Given the description of an element on the screen output the (x, y) to click on. 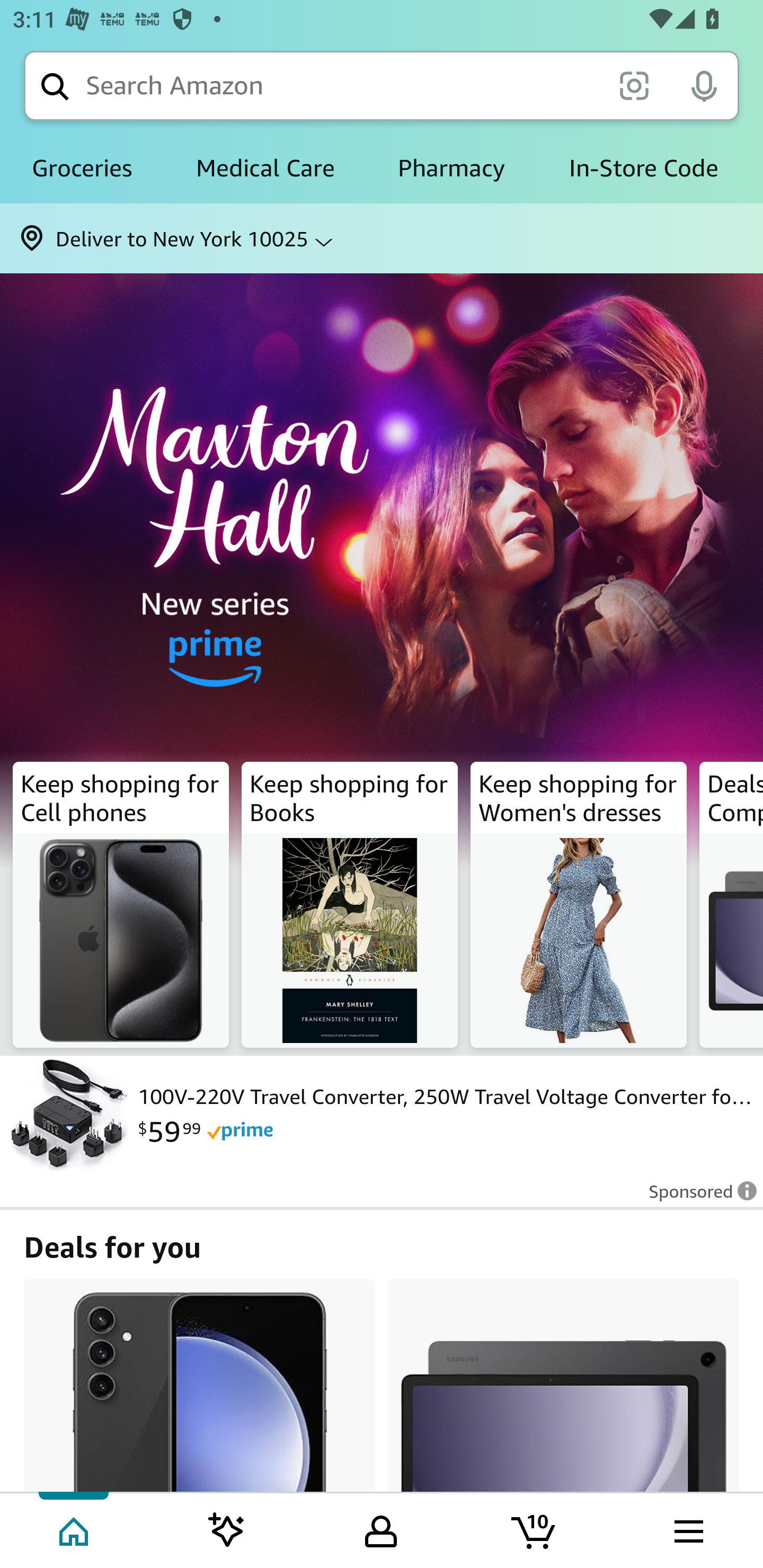
scan it (633, 85)
Groceries (82, 168)
Medical Care (265, 168)
Pharmacy (451, 168)
In-Store Code (643, 168)
Deliver to New York 10025 ⌵ (381, 237)
Keep shopping for Books Keep shopping for Books (349, 904)
Leave feedback on Sponsored ad Sponsored  (696, 1196)
Home Tab 1 of 5 (75, 1529)
Inspire feed Tab 2 of 5 (227, 1529)
Your Amazon.com Tab 3 of 5 (380, 1529)
Cart 10 items Tab 4 of 5 10 (534, 1529)
Browse menu Tab 5 of 5 (687, 1529)
